Given the description of an element on the screen output the (x, y) to click on. 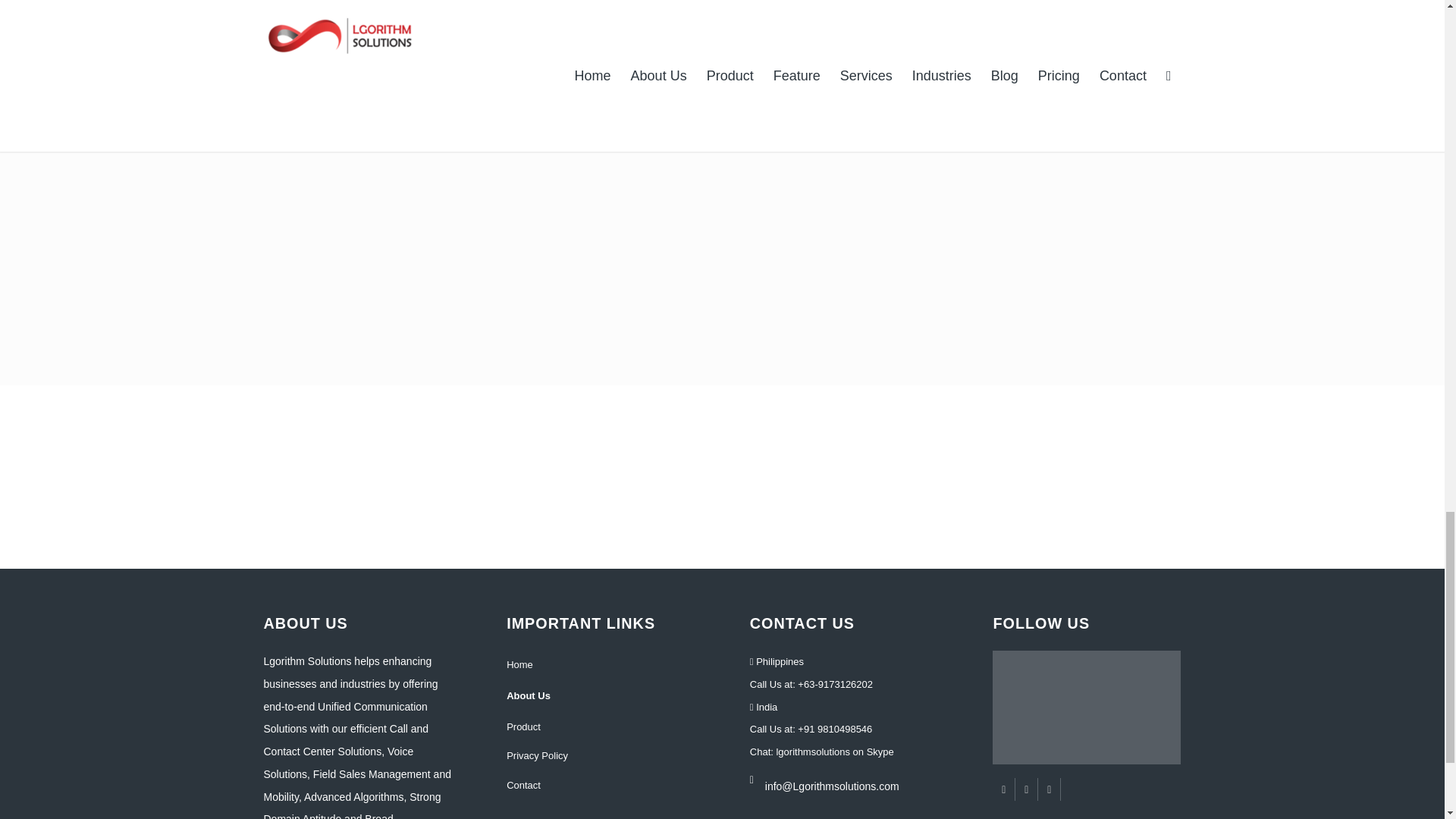
Twitter (1025, 789)
Email Address (851, 775)
Linkedin (1048, 789)
Facebook (1003, 789)
